Given the description of an element on the screen output the (x, y) to click on. 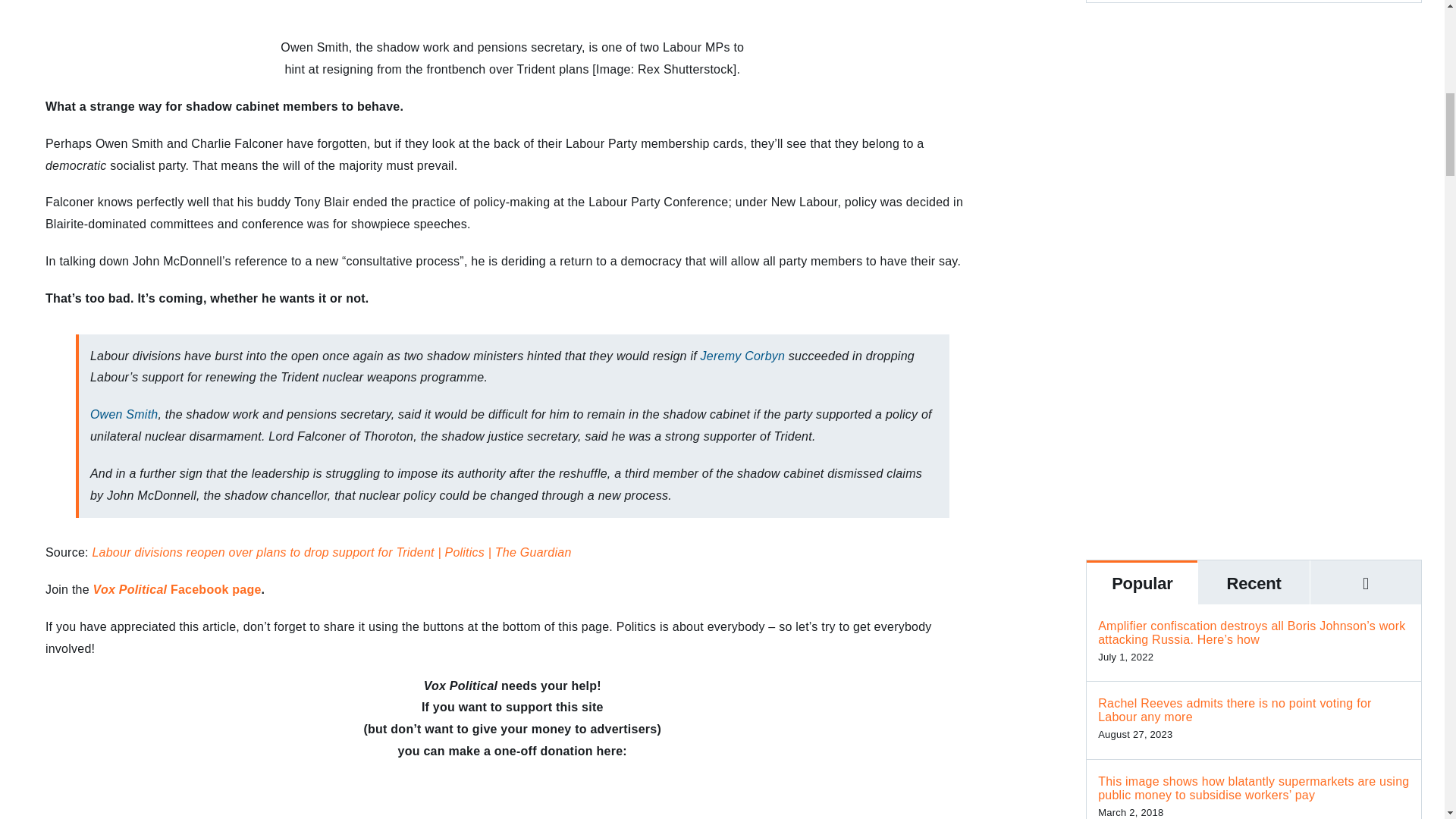
Recent (1253, 582)
Advertisement (1254, 411)
Vox Political Facebook page (177, 589)
Comments (1365, 582)
Popular (1141, 582)
Jeremy Corbyn (743, 355)
Owen Smith (124, 413)
